Given the description of an element on the screen output the (x, y) to click on. 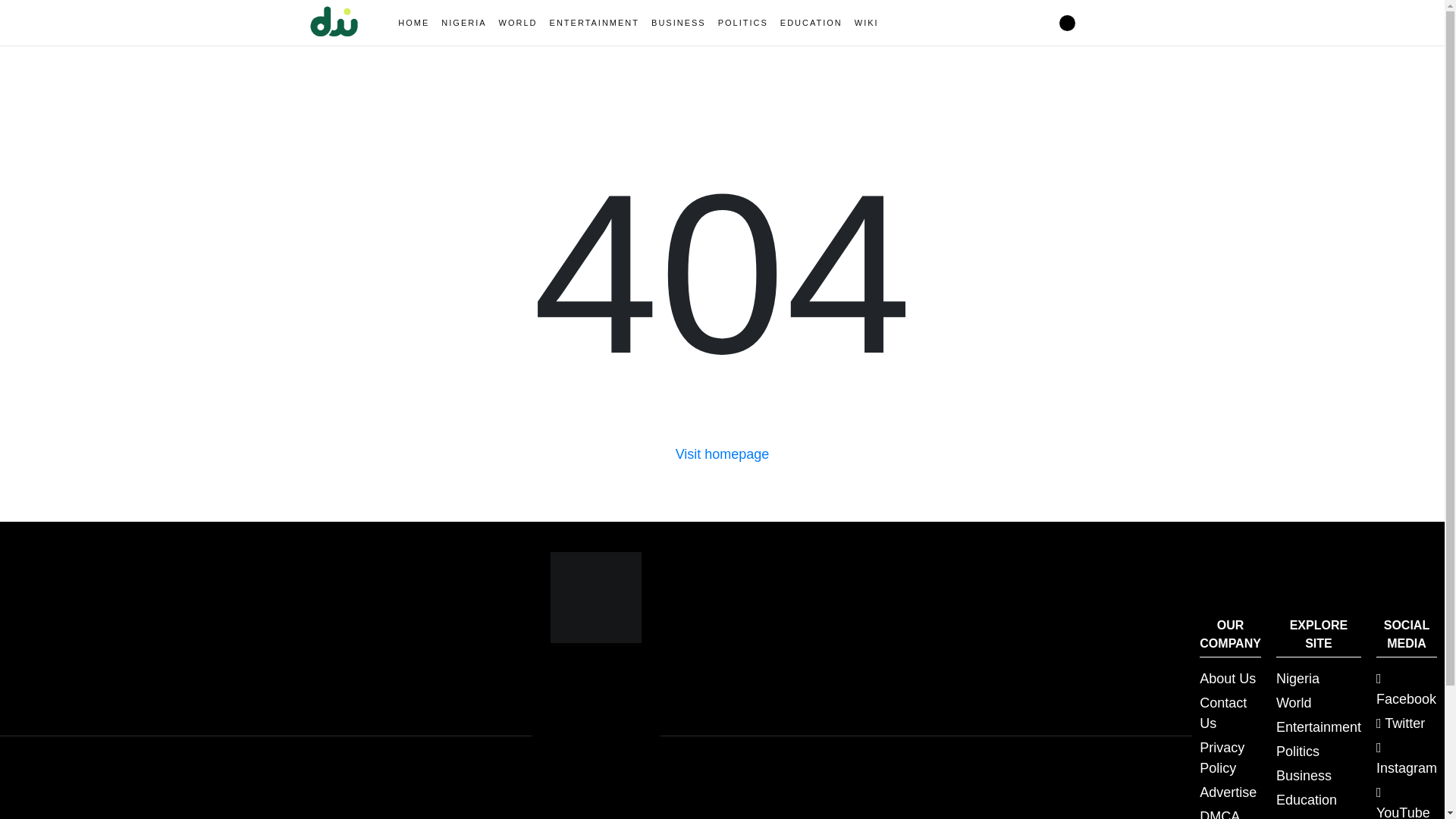
EDUCATION (811, 22)
HOME (413, 22)
NIGERIA (463, 22)
POLITICS (742, 22)
ENTERTAINMENT (594, 22)
WORLD (518, 22)
Visit homepage (722, 453)
BUSINESS (678, 22)
